Given the description of an element on the screen output the (x, y) to click on. 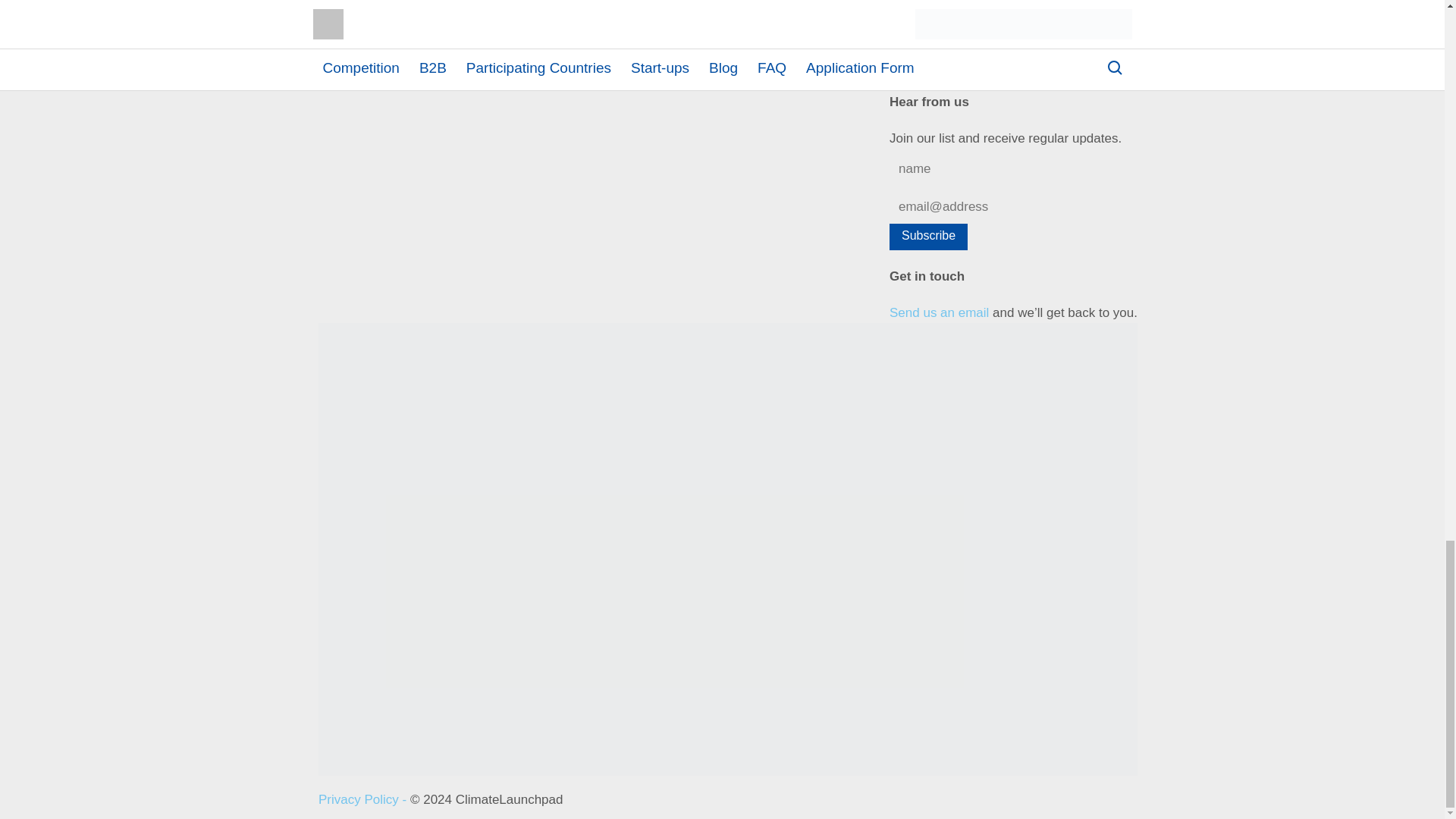
Subscribe (928, 236)
Organise the Competition (391, 26)
Our partners (354, 7)
Press centre (354, 45)
